Given the description of an element on the screen output the (x, y) to click on. 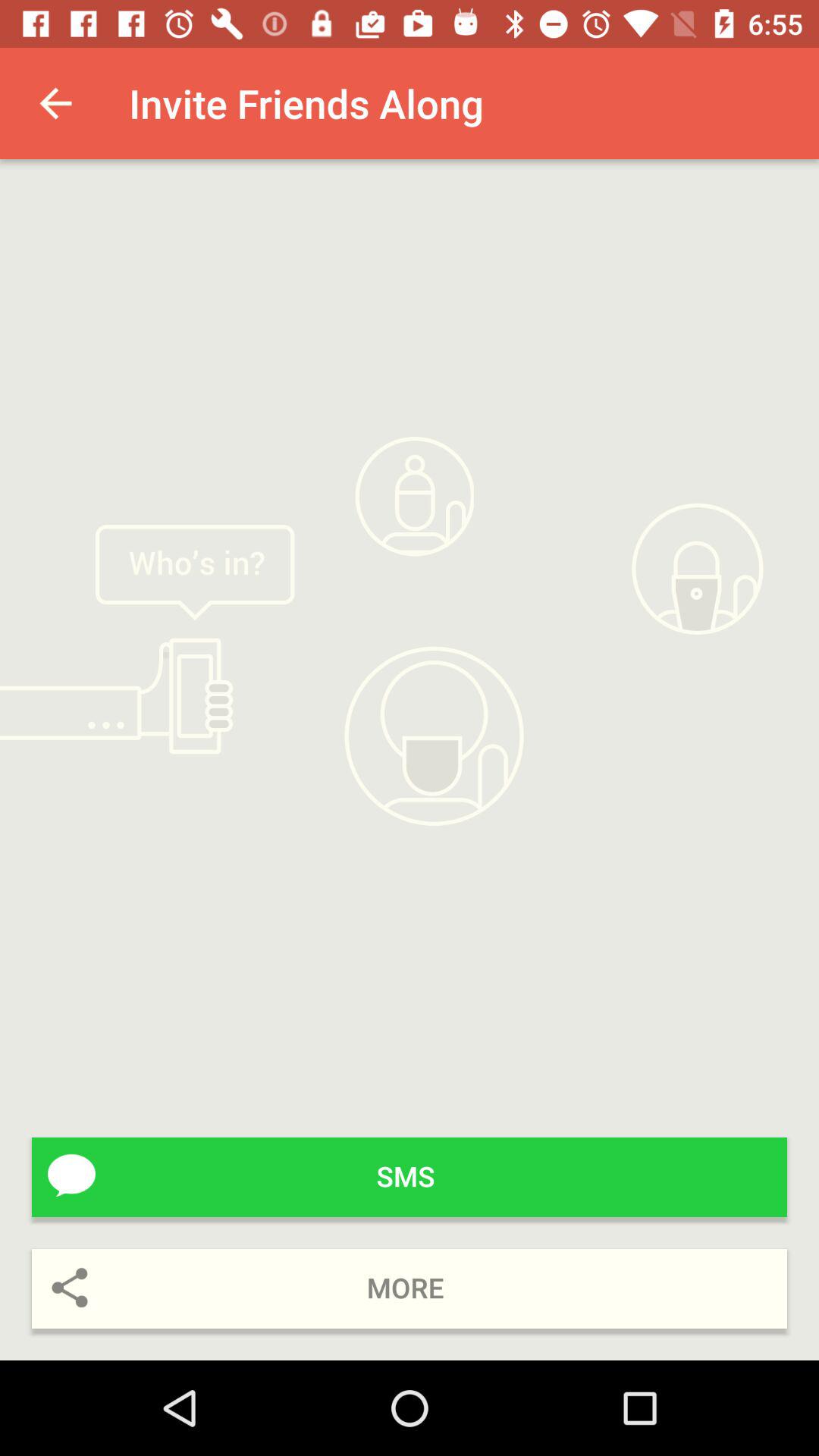
press app to the left of  invite friends along app (55, 103)
